Given the description of an element on the screen output the (x, y) to click on. 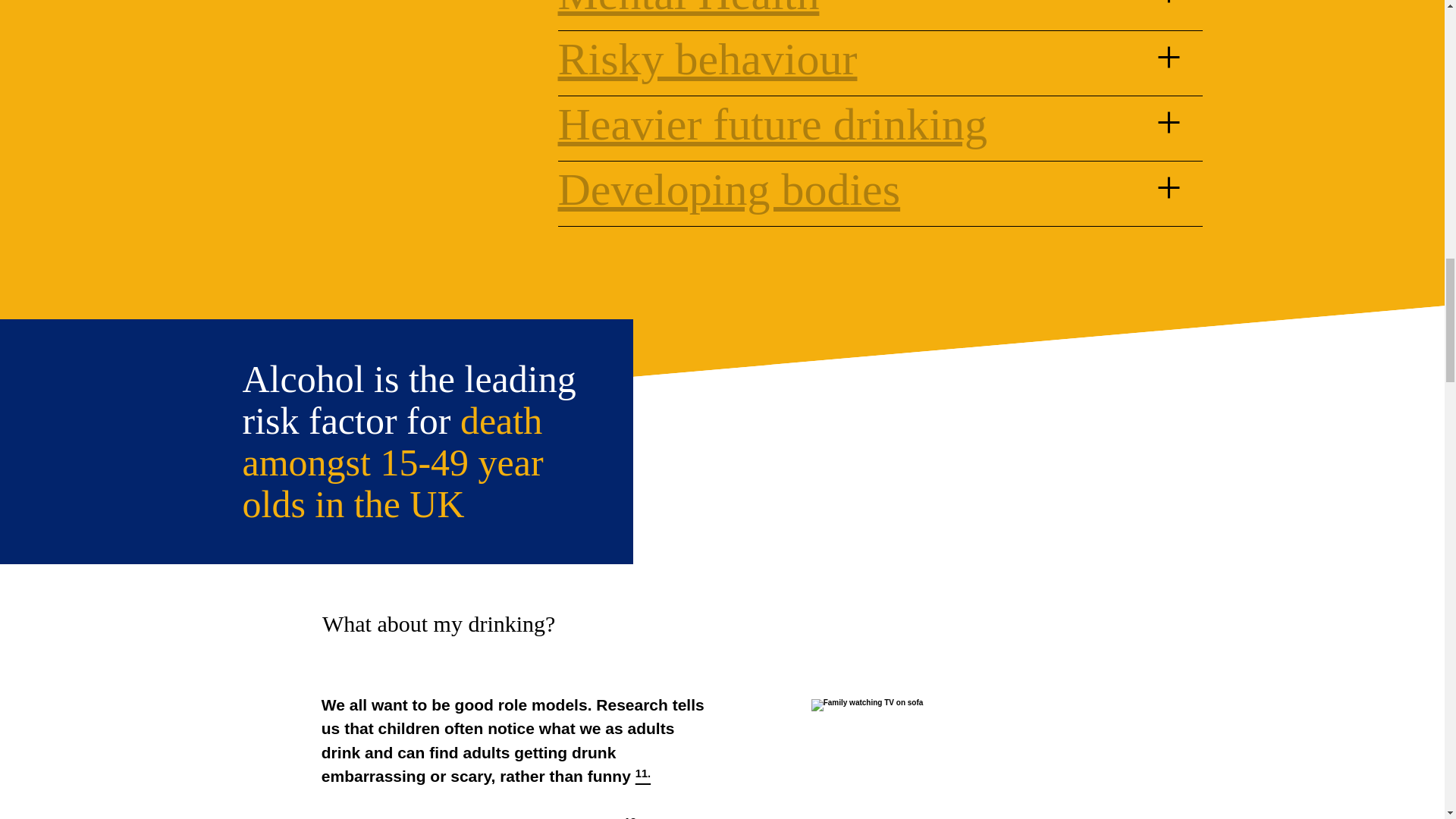
Risky behaviour (707, 59)
Heavier future drinking (772, 124)
12 (630, 817)
Mental Health (688, 10)
Developing bodies (729, 189)
